Given the description of an element on the screen output the (x, y) to click on. 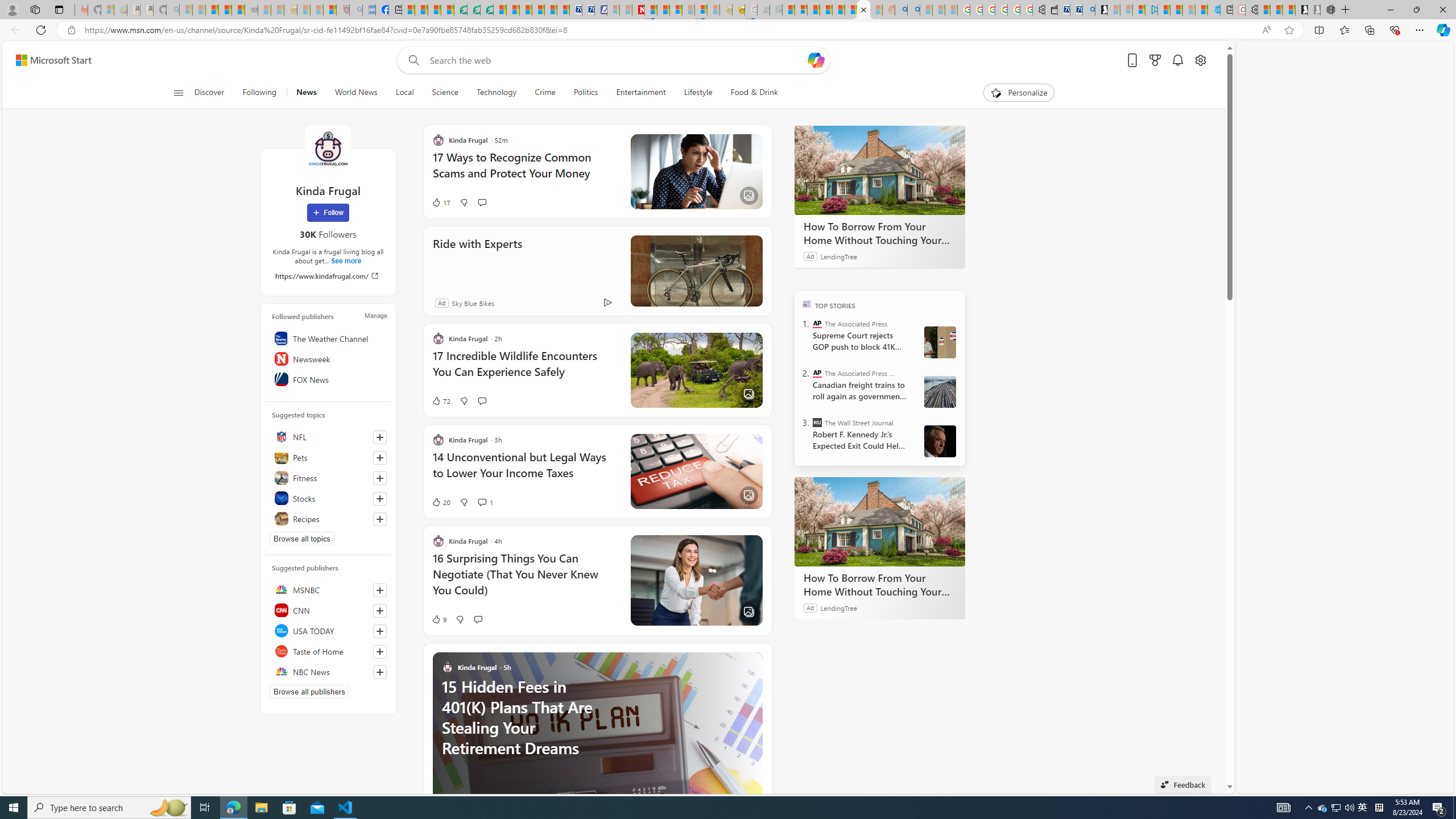
Dislike (458, 619)
NCL Adult Asthma Inhaler Choice Guideline - Sleeping (369, 9)
Technology (496, 92)
MSNBC (327, 589)
Utah sues federal government - Search (913, 9)
View comments 1 Comment (481, 501)
Bing Real Estate - Home sales and rental listings (1088, 9)
17 Incredible Wildlife Encounters You Can Experience Safely (524, 369)
To get missing image descriptions, open the context menu. (995, 92)
